Given the description of an element on the screen output the (x, y) to click on. 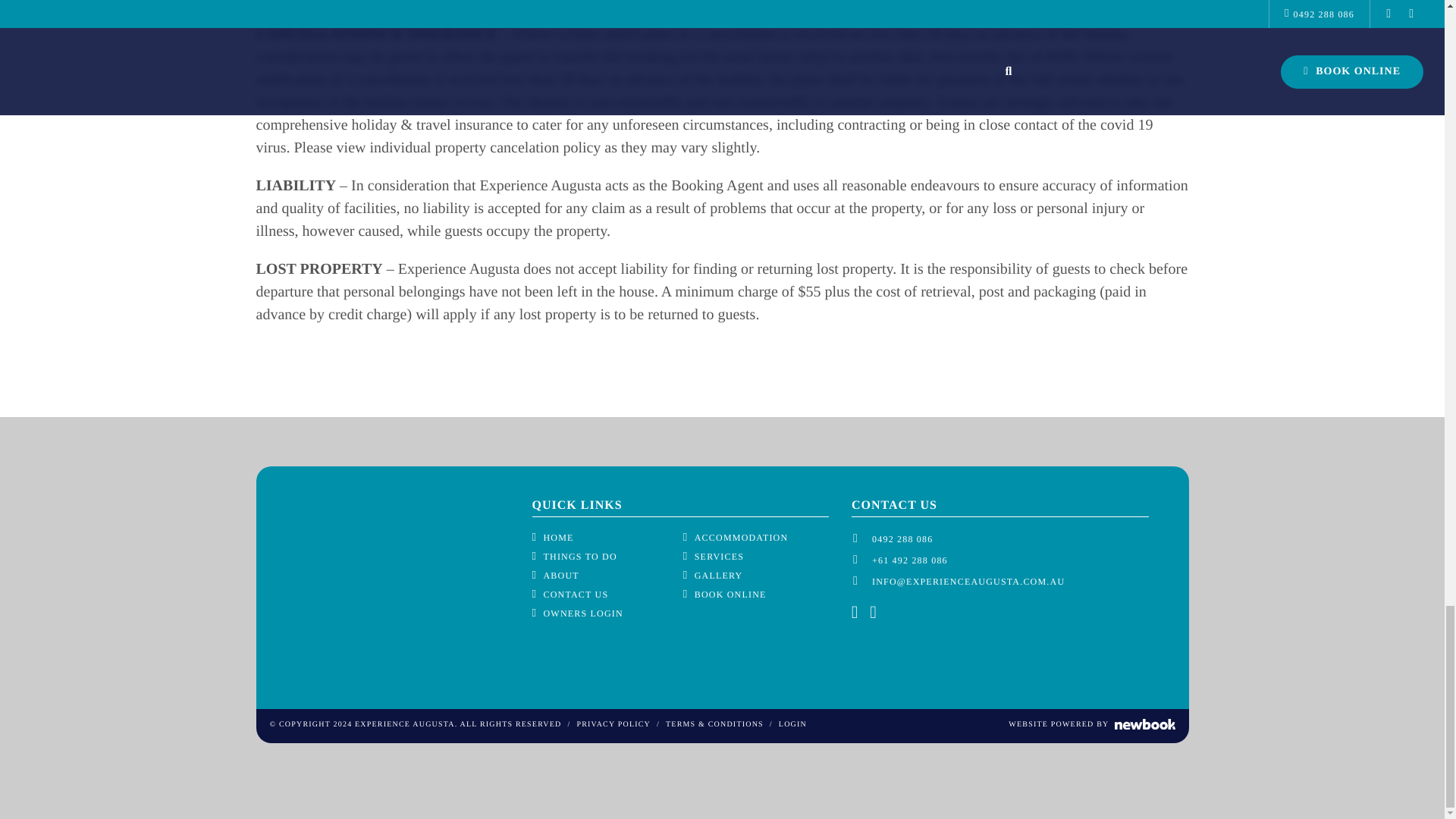
SERVICES (713, 556)
GALLERY (712, 575)
PRIVACY POLICY (613, 724)
ABOUT (555, 575)
LOGIN (792, 724)
THINGS TO DO (574, 556)
View our terms and conditions (713, 724)
HOME (552, 537)
BOOK ONLINE (724, 594)
ACCOMMODATION (735, 537)
